Given the description of an element on the screen output the (x, y) to click on. 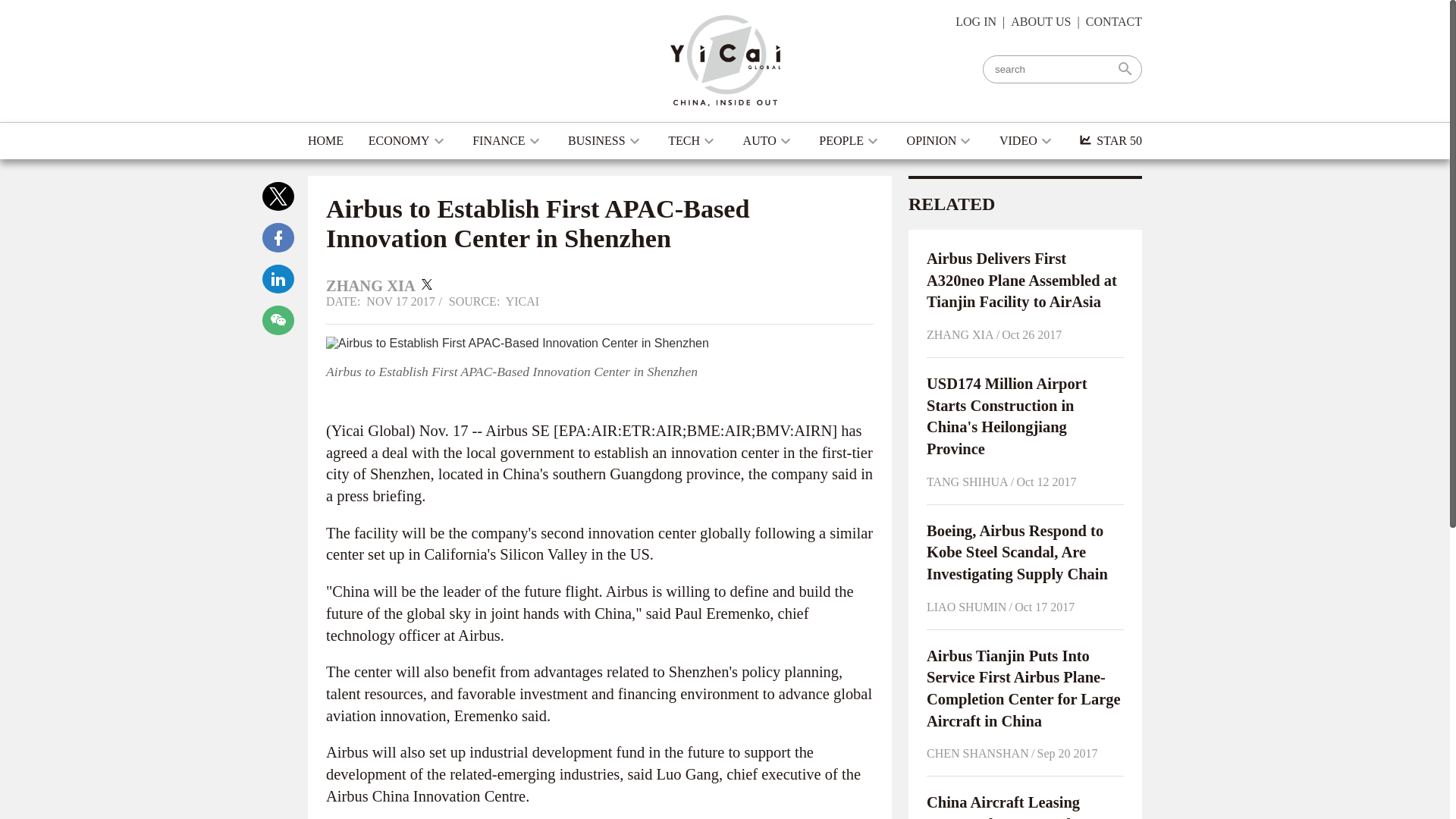
AUTO (768, 140)
VIDEO (1026, 140)
CONTACT (1113, 21)
ABOUT US (1040, 21)
PEOPLE (850, 140)
BUSINESS (605, 140)
TECH (692, 140)
OPINION (941, 140)
STAR 50 (1110, 140)
FINANCE (507, 140)
